Given the description of an element on the screen output the (x, y) to click on. 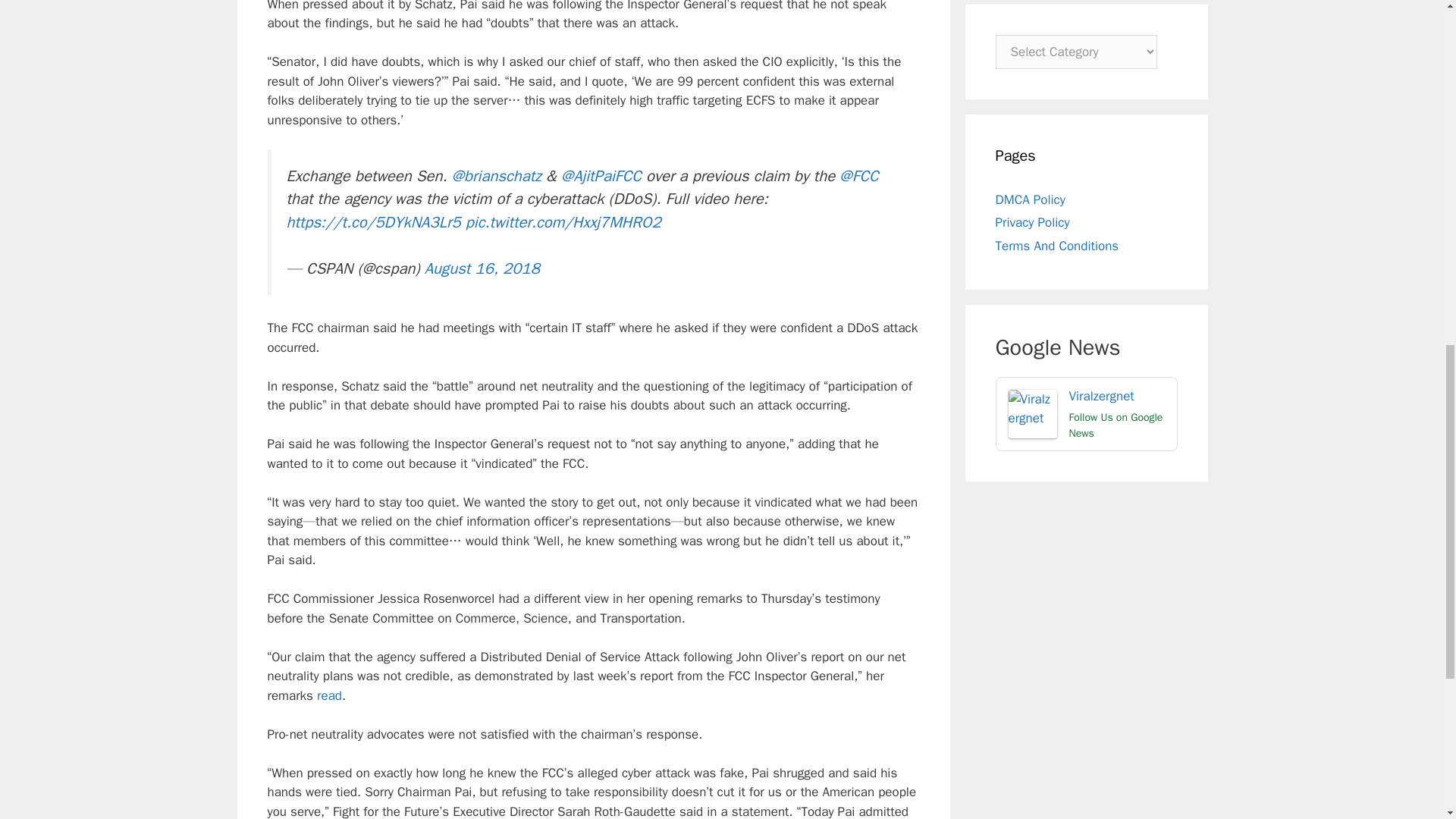
Scroll back to top (1406, 720)
August 16, 2018 (482, 268)
read (329, 695)
Viralzergnet (1085, 413)
